Given the description of an element on the screen output the (x, y) to click on. 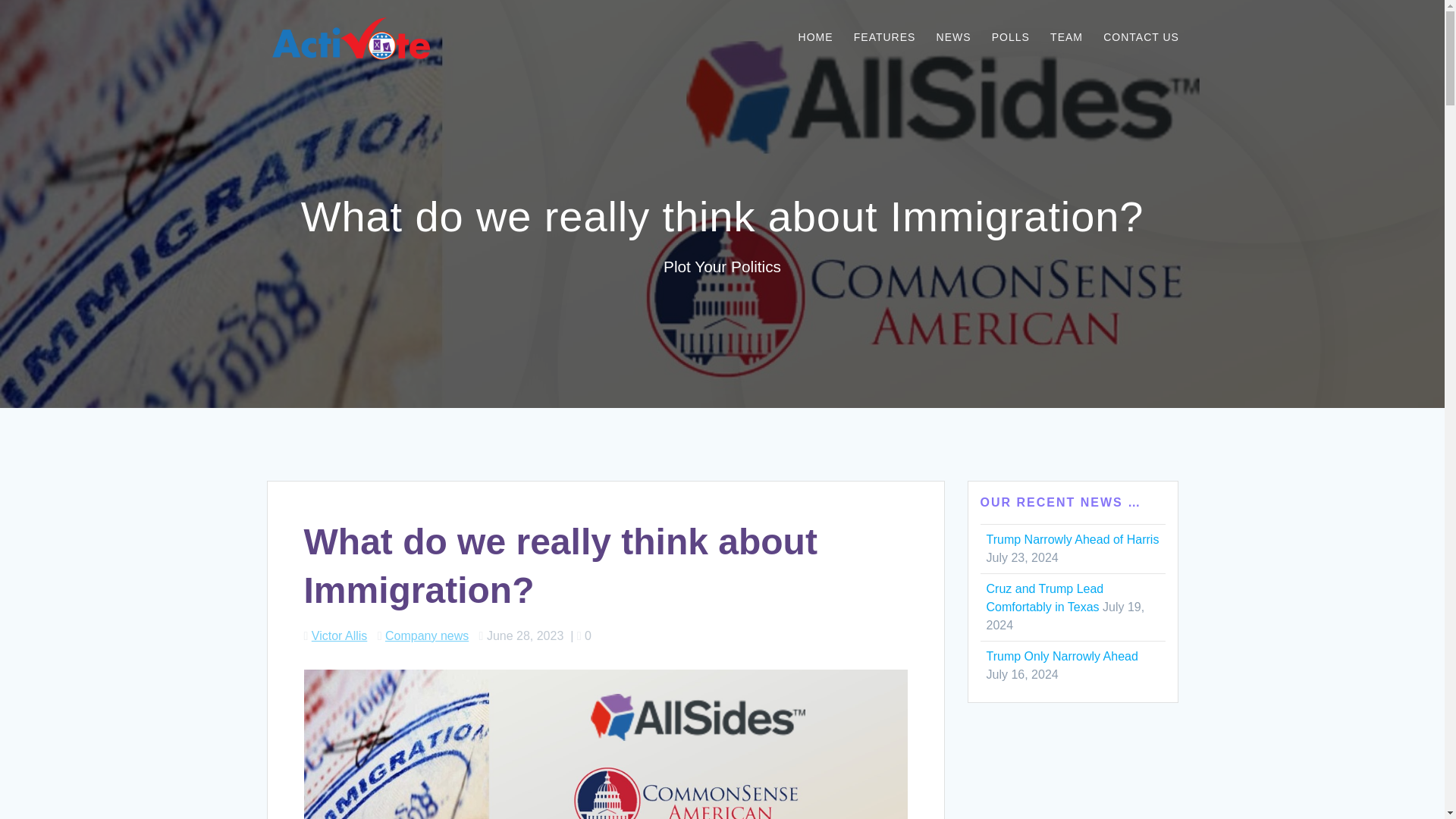
CONTACT US (1141, 37)
HOME (814, 37)
Trump Narrowly Ahead of Harris (1071, 539)
Trump Only Narrowly Ahead (1061, 656)
TEAM (1066, 37)
FEATURES (884, 37)
Victor Allis (339, 635)
NEWS (953, 37)
Company news (426, 635)
POLLS (1010, 37)
Posts by Victor Allis (339, 635)
Cruz and Trump Lead Comfortably in Texas (1044, 597)
